Given the description of an element on the screen output the (x, y) to click on. 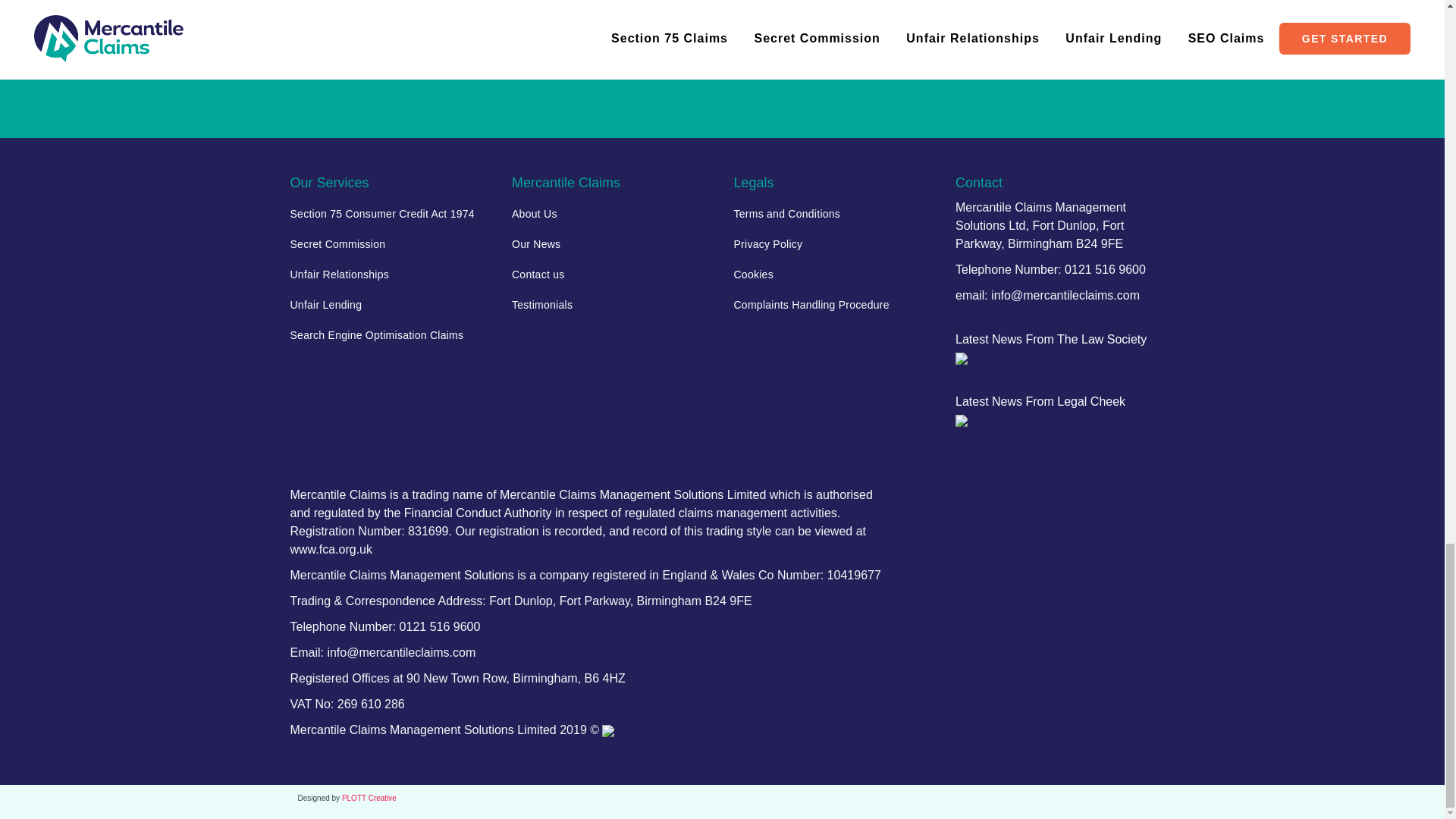
Unfair Lending (389, 304)
Search Engine Optimisation Claims (389, 335)
Secret Commission (389, 244)
Our News (611, 244)
About Us (611, 214)
Send Enquiry (722, 24)
Contact us (611, 274)
Section 75 Consumer Credit Act 1974 (389, 214)
Send Enquiry (722, 24)
Unfair Relationships (389, 274)
